Given the description of an element on the screen output the (x, y) to click on. 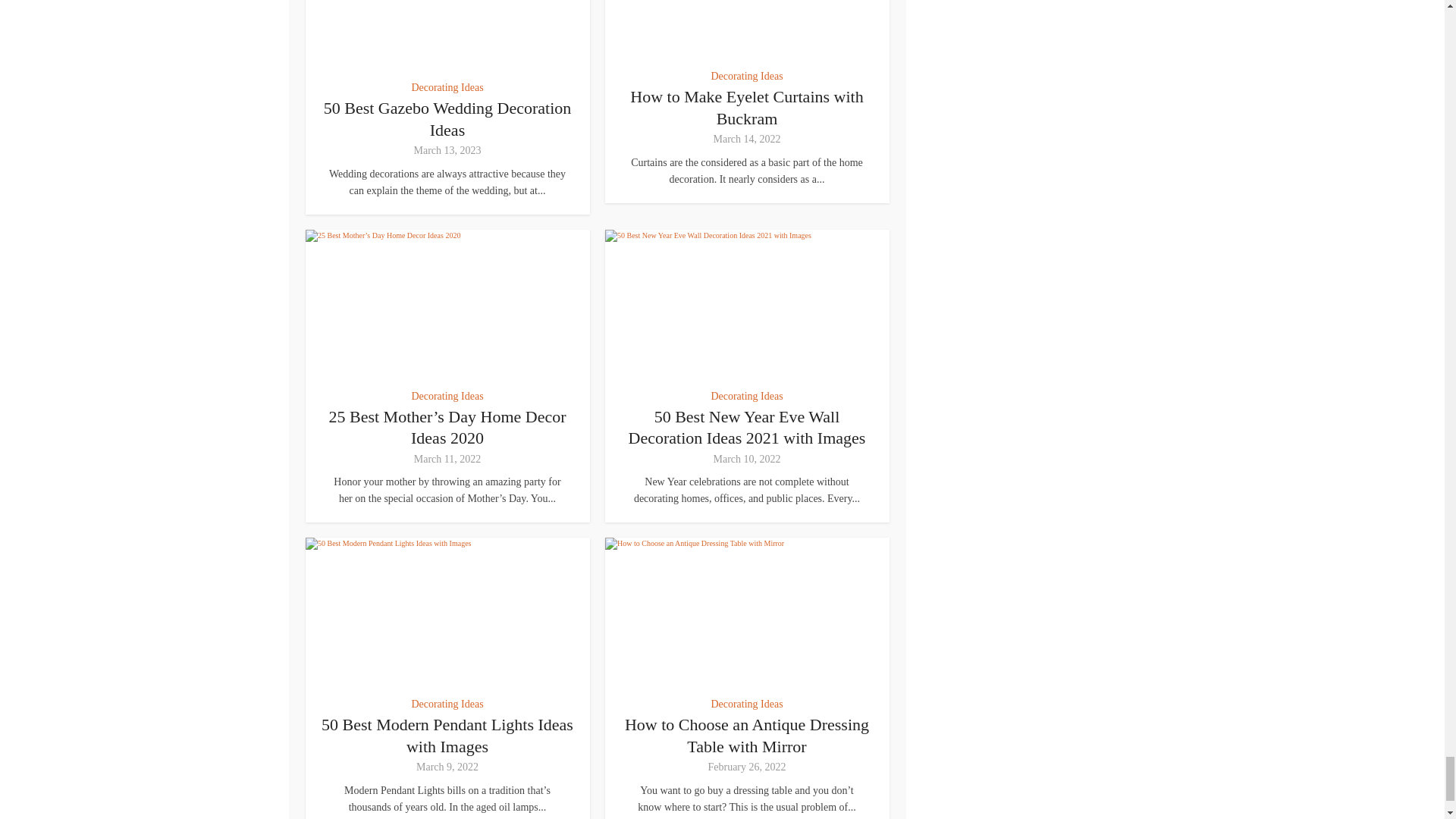
50 Best Modern Pendant Lights Ideas with Images (447, 734)
50 Best Modern Pendant Lights Ideas with Images (446, 611)
50 Best Gazebo Wedding Decoration Ideas (447, 118)
Gazebo Wedding Decor Ideas 2023 UK (446, 34)
How to Make Eyelet Curtains with Buckram (747, 28)
How to Make Eyelet Curtains with Buckram (746, 106)
50 Best New Year Eve Wall Decoration Ideas 2021 with Images (747, 303)
50 Best New Year Eve Wall Decoration Ideas 2021 with Images (747, 427)
